Given the description of an element on the screen output the (x, y) to click on. 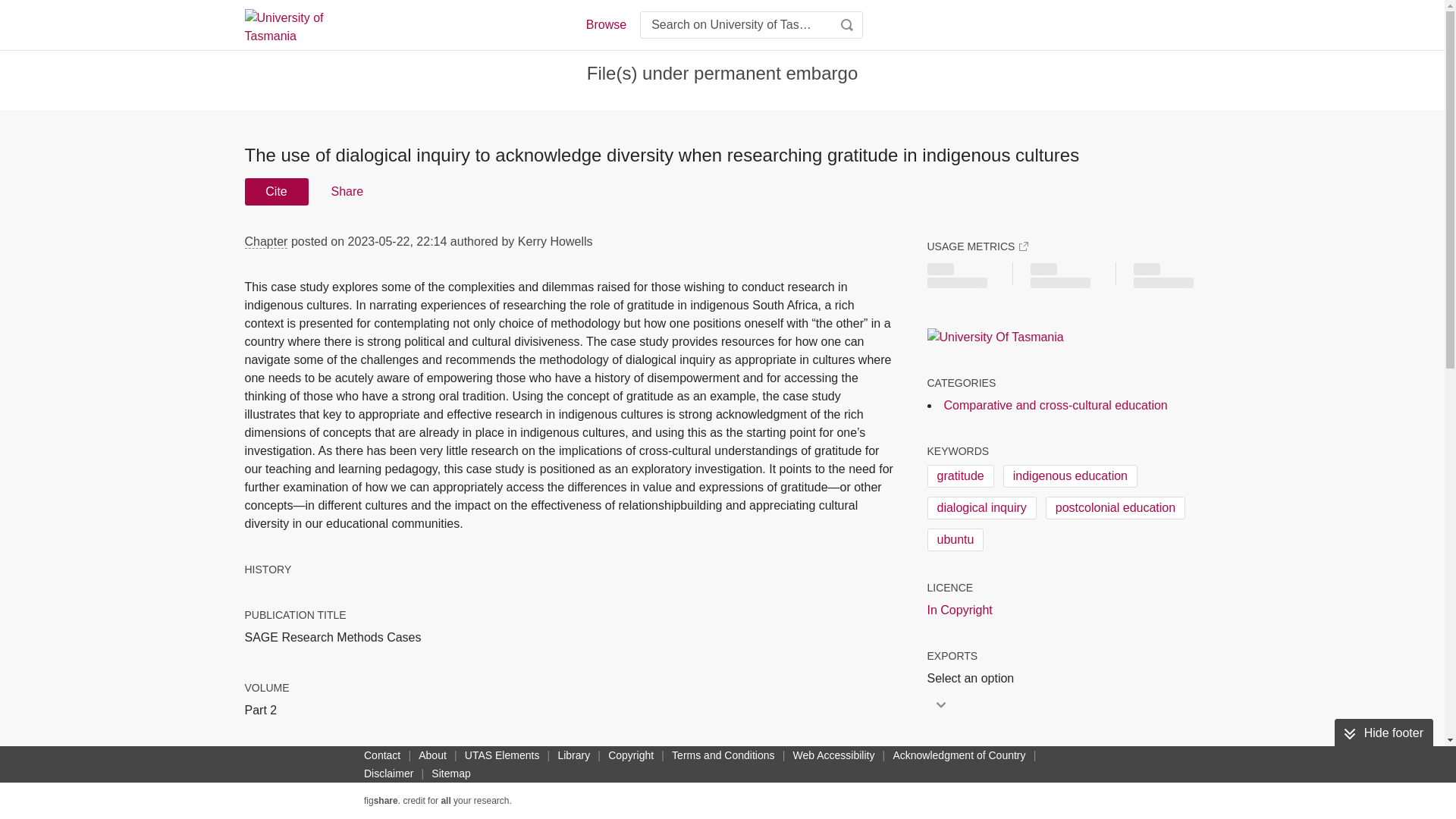
indigenous education (1070, 476)
Copyright (631, 755)
Sitemap (450, 773)
Hide footer (1383, 733)
dialogical inquiry (980, 507)
gratitude (959, 476)
Terms and Conditions (722, 755)
USAGE METRICS (976, 246)
Disclaimer (388, 773)
Browse (605, 24)
